Given the description of an element on the screen output the (x, y) to click on. 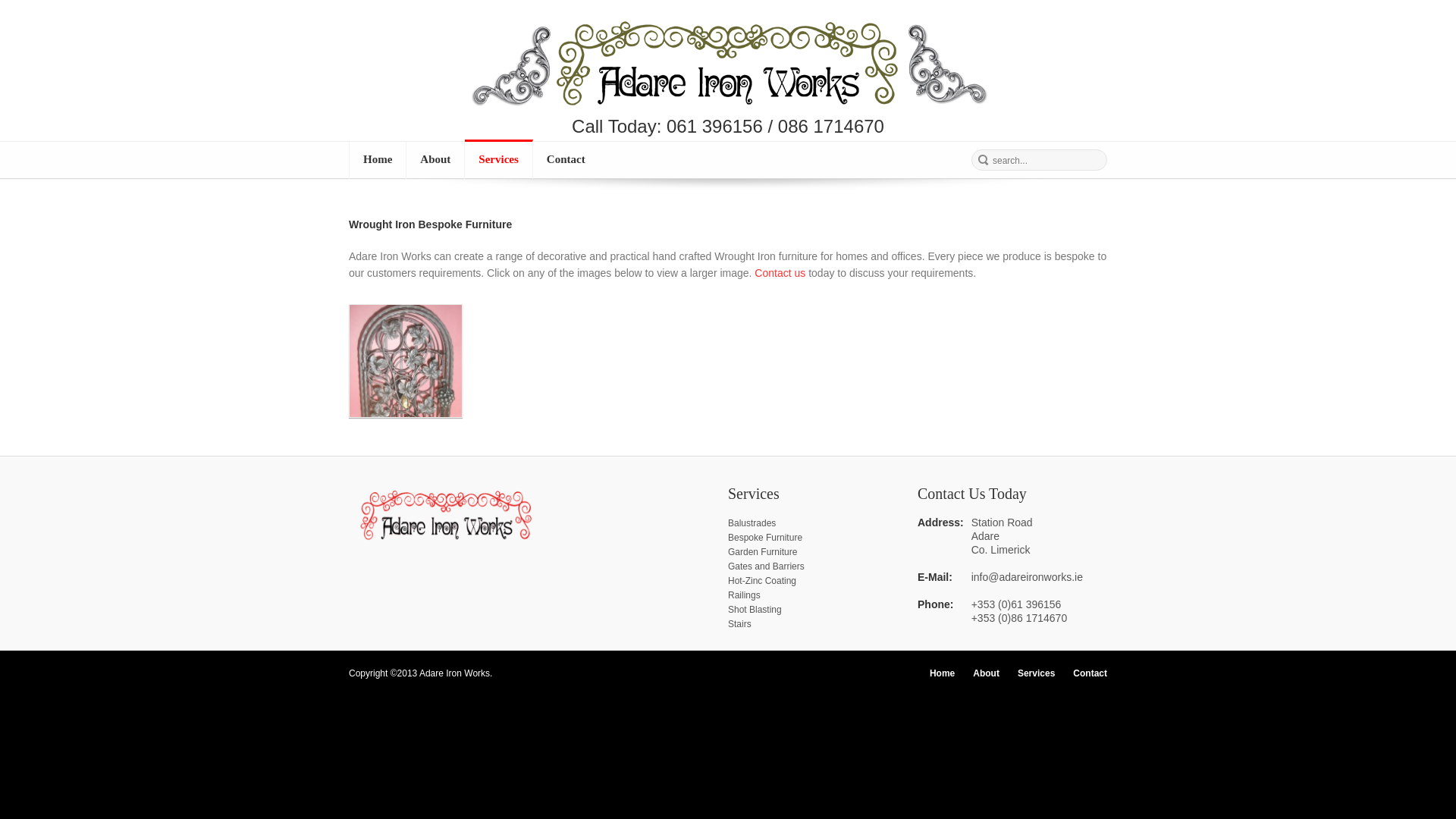
About (985, 673)
Contact (779, 272)
Balustrades (752, 522)
Stairs (739, 624)
Garden Furniture (762, 552)
Home (377, 160)
Shot-Blasting (754, 609)
Home (942, 673)
Services (1035, 673)
Contact (565, 160)
